Given the description of an element on the screen output the (x, y) to click on. 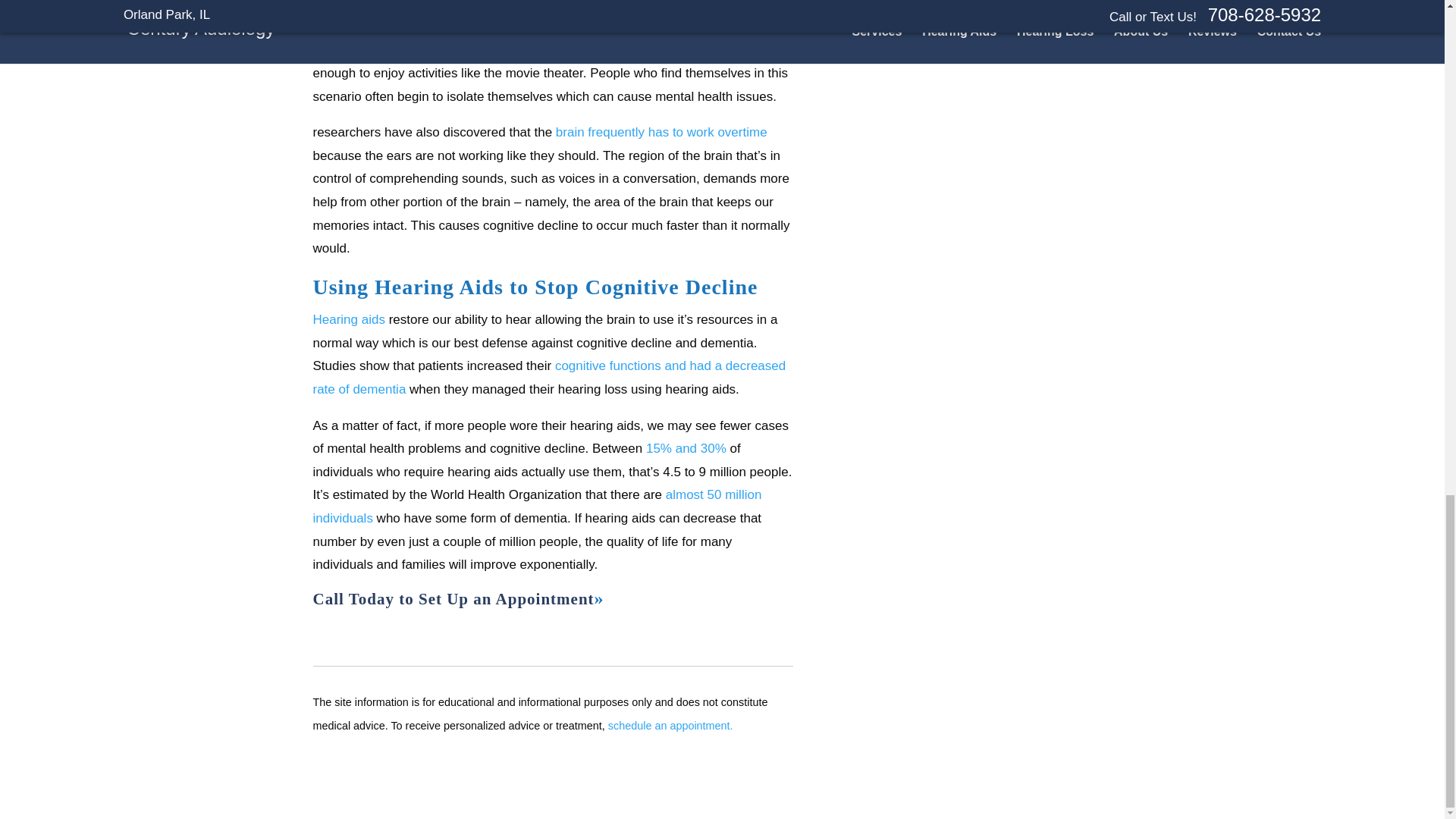
schedule an appointment. (670, 725)
loneliness (485, 5)
Call Today to Set Up an Appointment (458, 598)
cognitive functions and had a decreased rate of dementia (549, 377)
almost 50 million individuals (537, 506)
brain frequently has to work overtime (661, 132)
Hearing aids (348, 319)
